Given the description of an element on the screen output the (x, y) to click on. 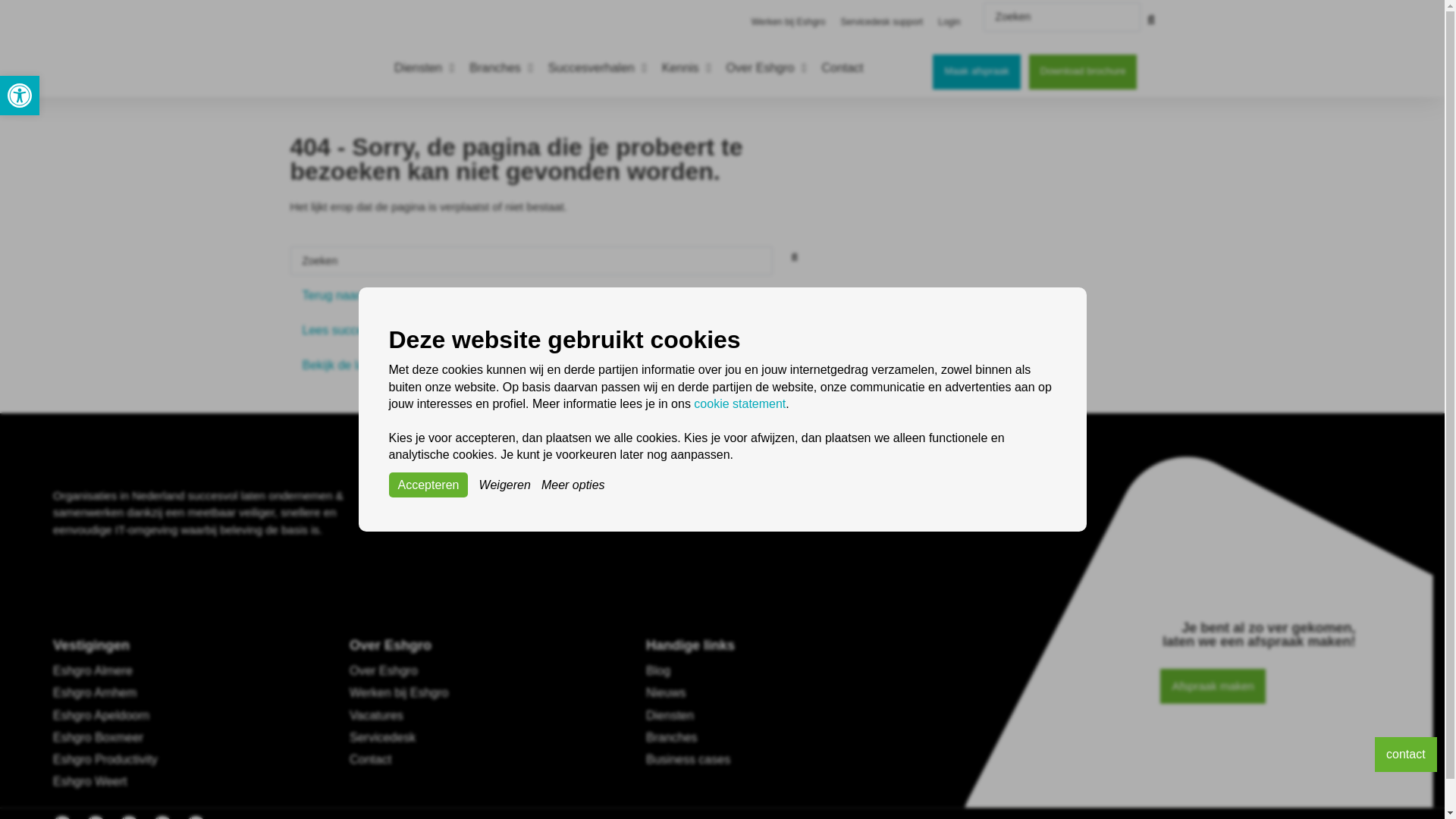
Diensten (418, 67)
Werken bij Eshgro (788, 21)
Toegankelijkheid gereedschappen (19, 95)
Servicedesk support (881, 21)
Toegankelijkheid gereedschappen (19, 95)
Login (19, 95)
